Given the description of an element on the screen output the (x, y) to click on. 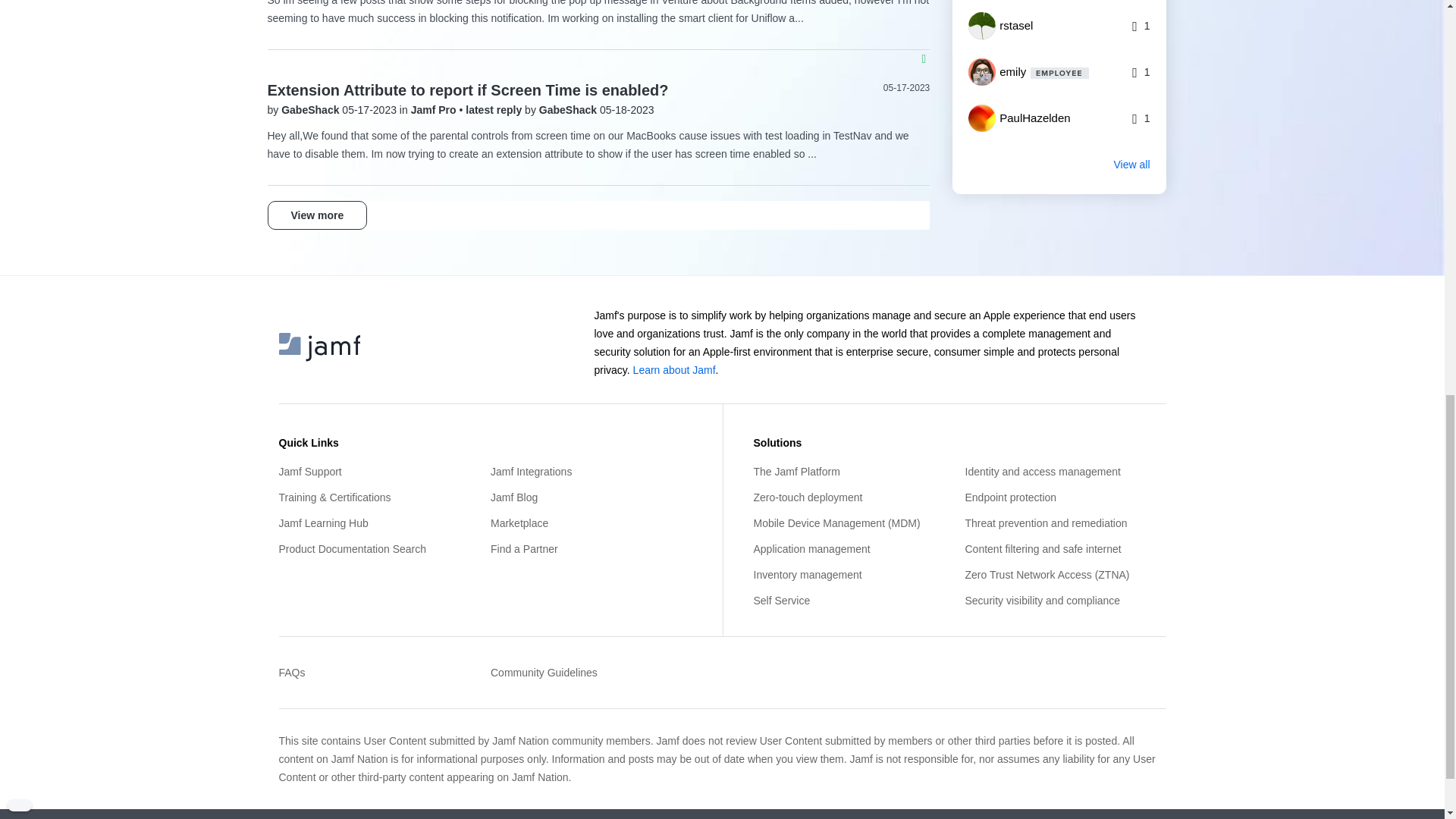
GabeShack (311, 110)
latest reply (494, 110)
GabeShack (568, 110)
View more (316, 215)
Extension Attribute to report if Screen Time is enabled? (467, 89)
Jamf Pro (435, 110)
